Given the description of an element on the screen output the (x, y) to click on. 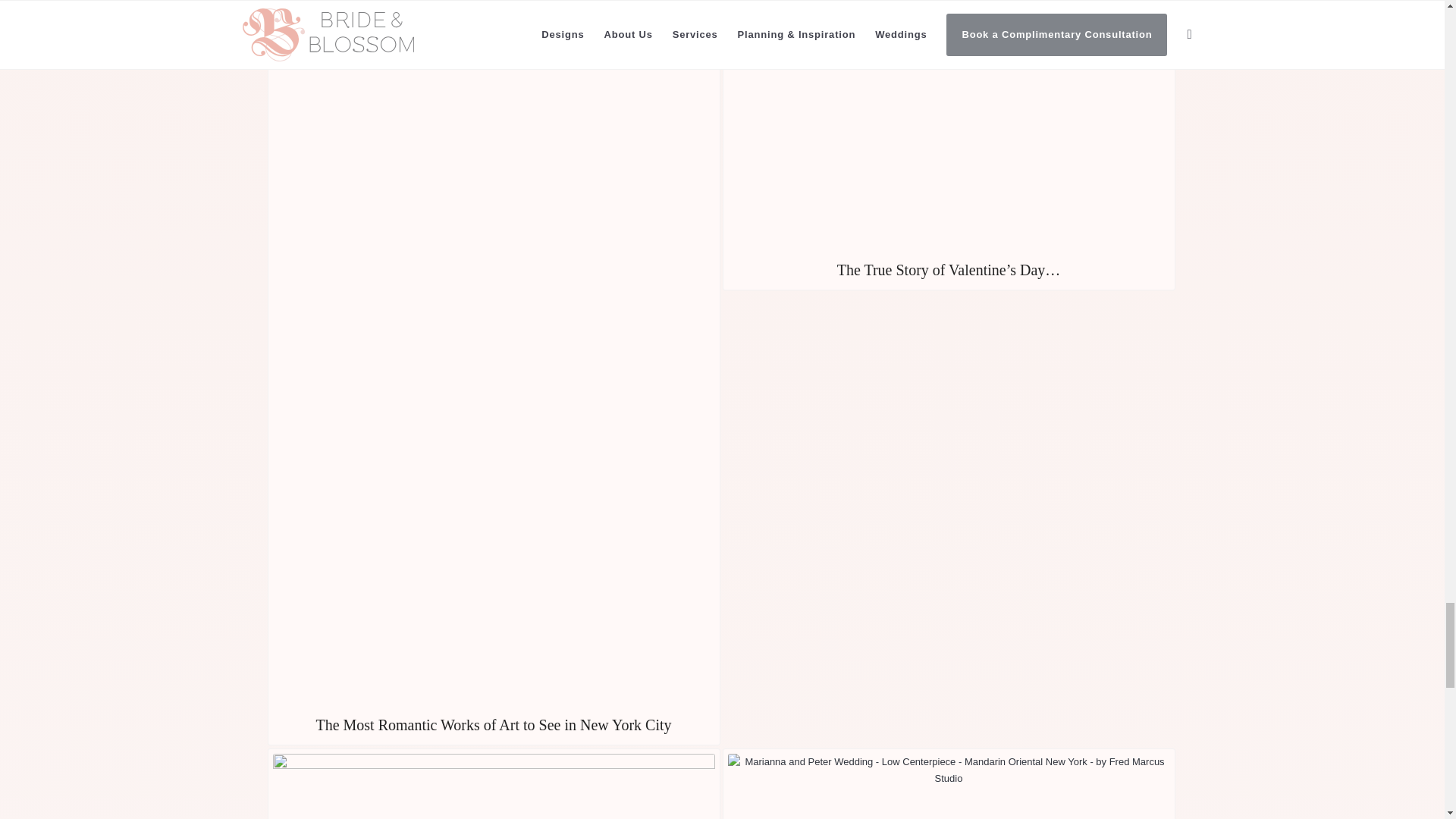
Pop-up Shop! (492, 783)
